Given the description of an element on the screen output the (x, y) to click on. 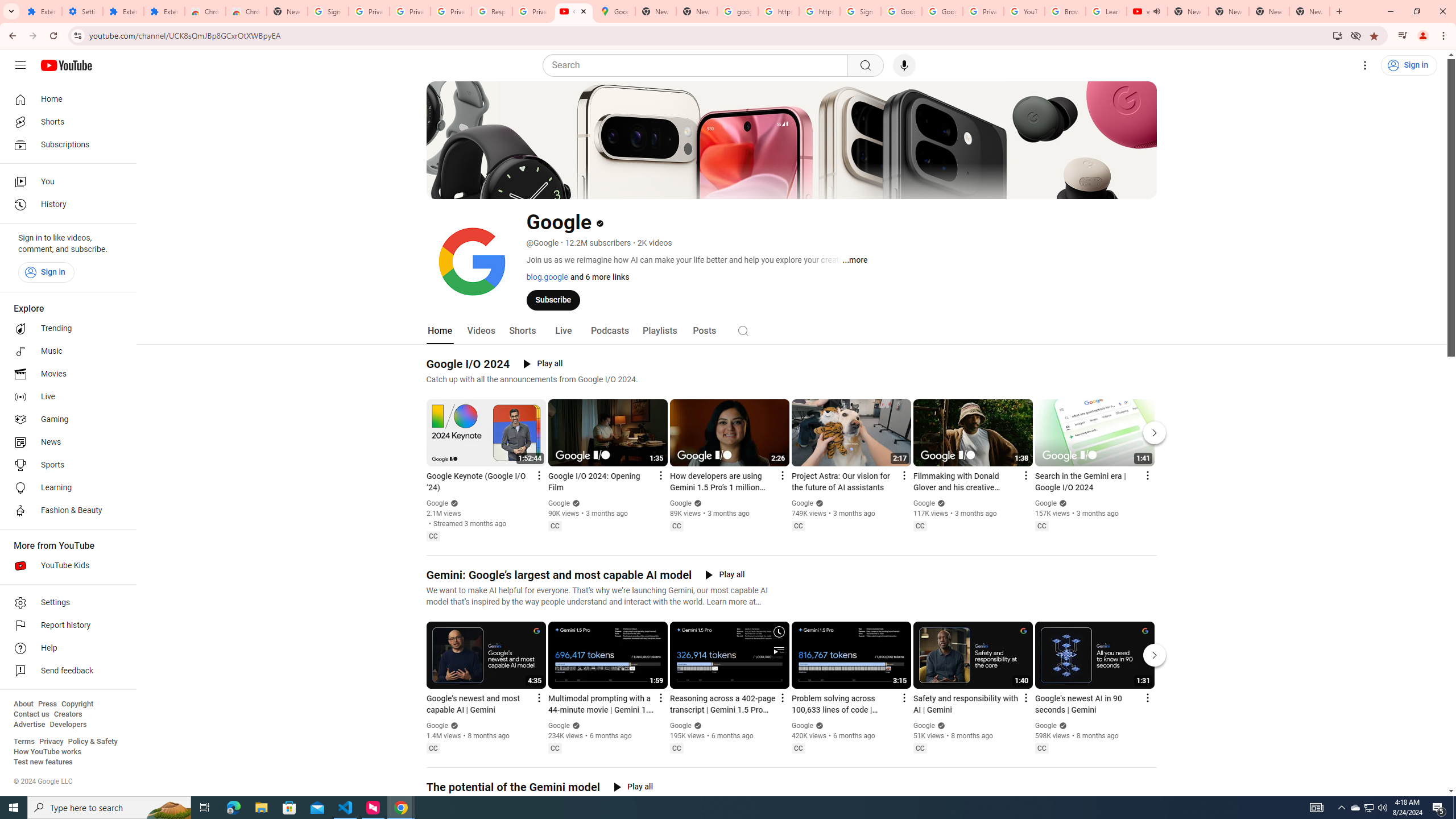
Address and search bar (707, 35)
Mute tab (1156, 10)
Sign in - Google Accounts (327, 11)
Copyright (77, 703)
Guide (20, 65)
Search with your voice (903, 65)
Minimize (1390, 11)
Restore (1416, 11)
